Given the description of an element on the screen output the (x, y) to click on. 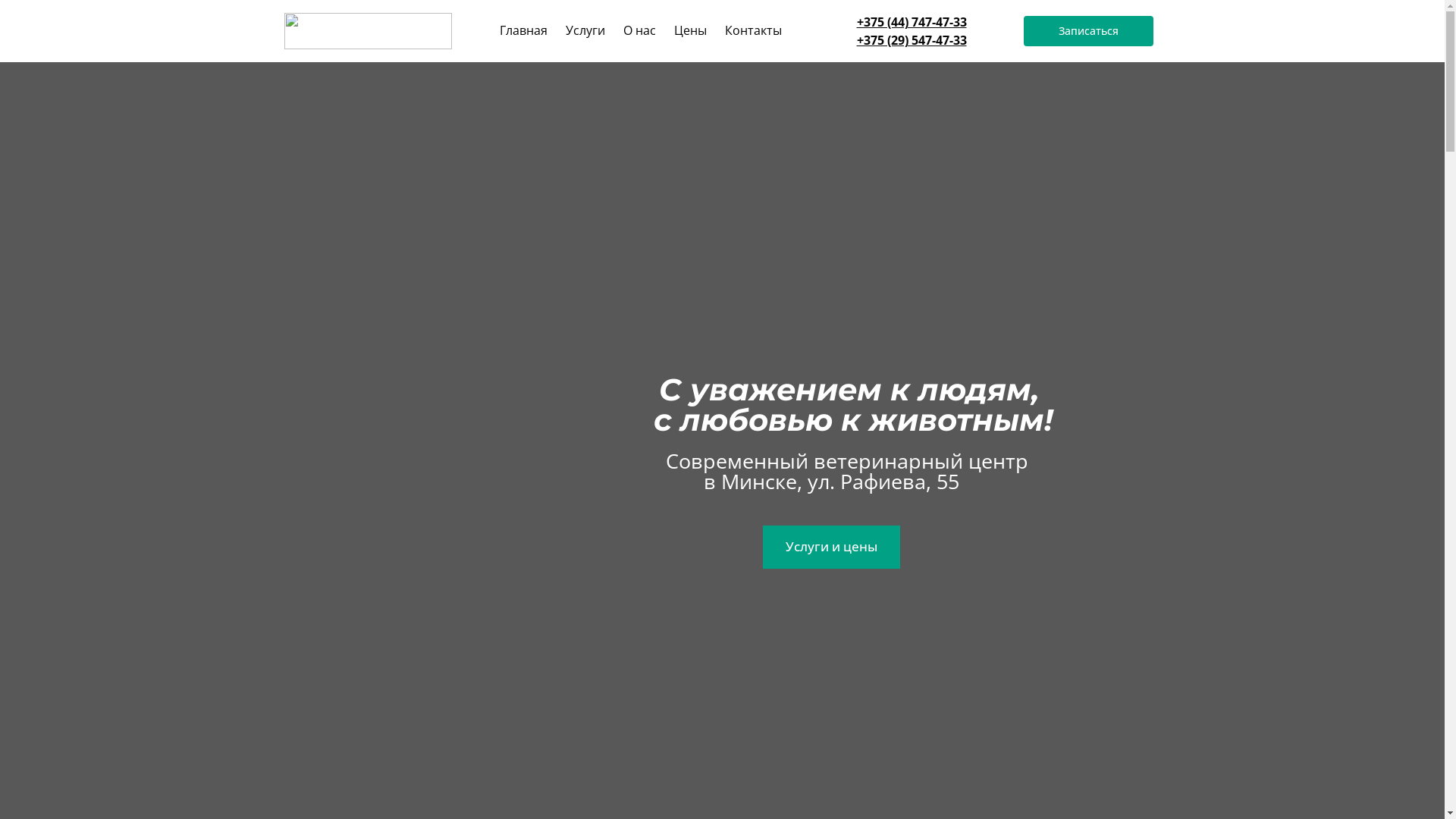
+375 (29) 547-47-33 Element type: text (911, 39)
+375 (44) 747-47-33 Element type: text (911, 21)
